Given the description of an element on the screen output the (x, y) to click on. 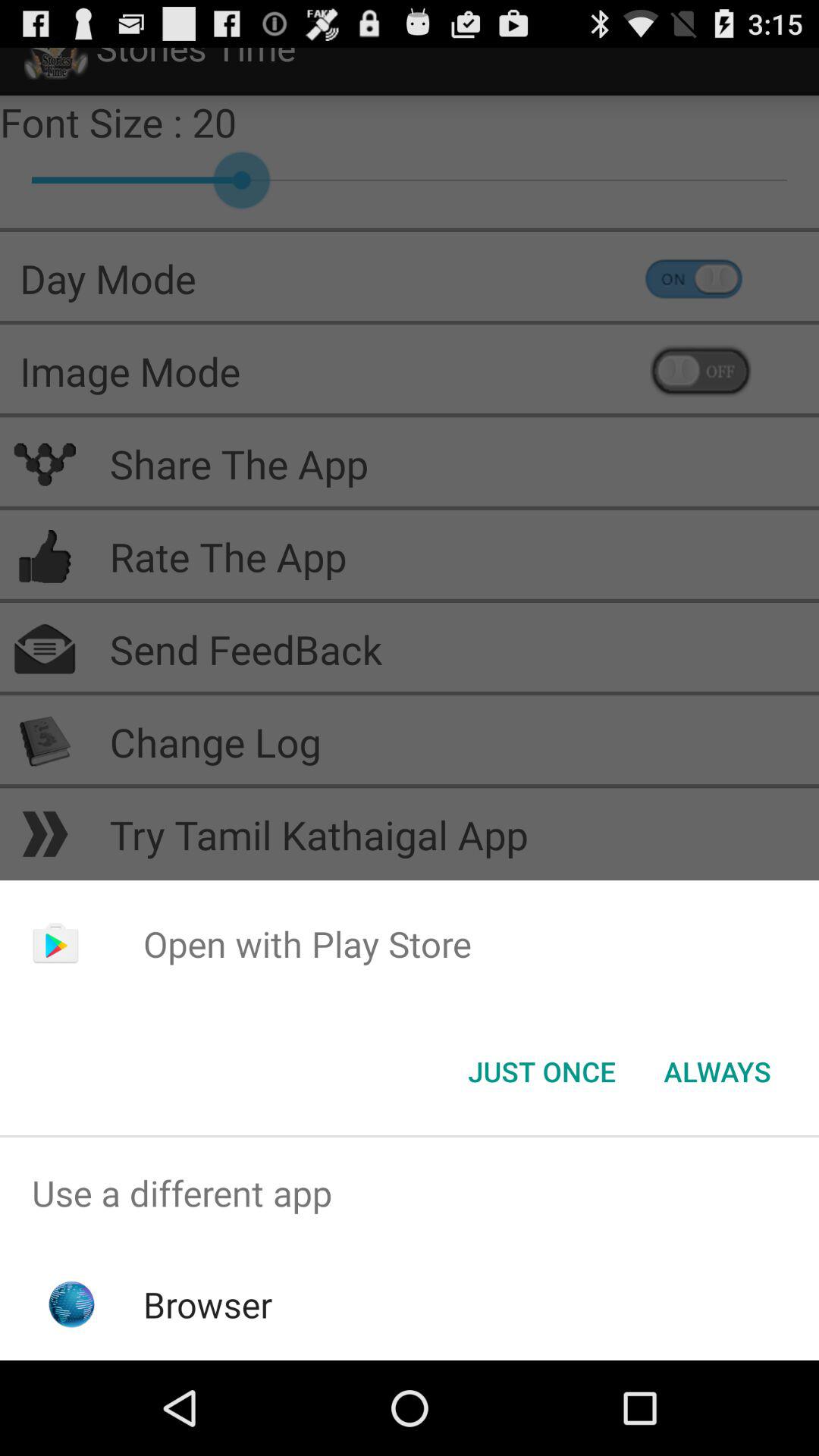
click the always at the bottom right corner (717, 1071)
